Given the description of an element on the screen output the (x, y) to click on. 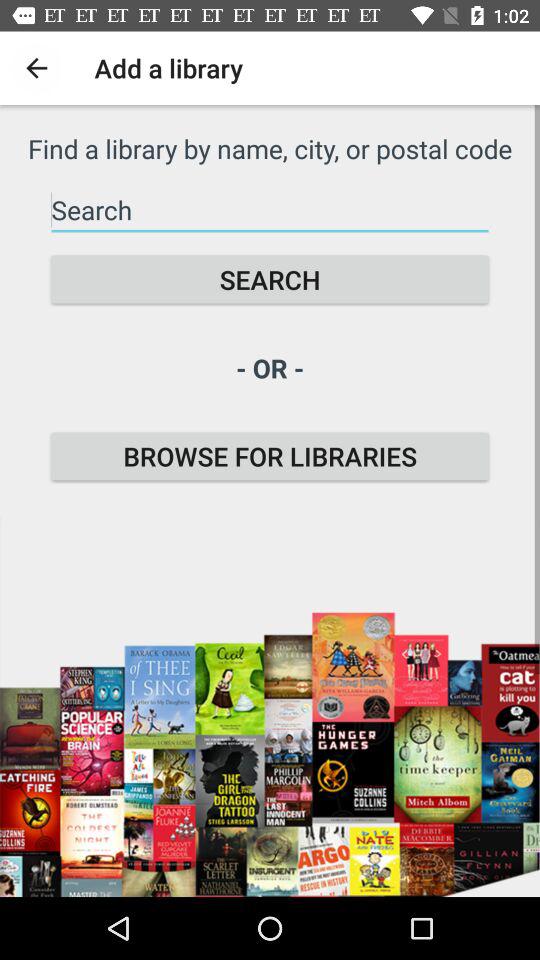
select the browse for libraries icon (269, 455)
